Given the description of an element on the screen output the (x, y) to click on. 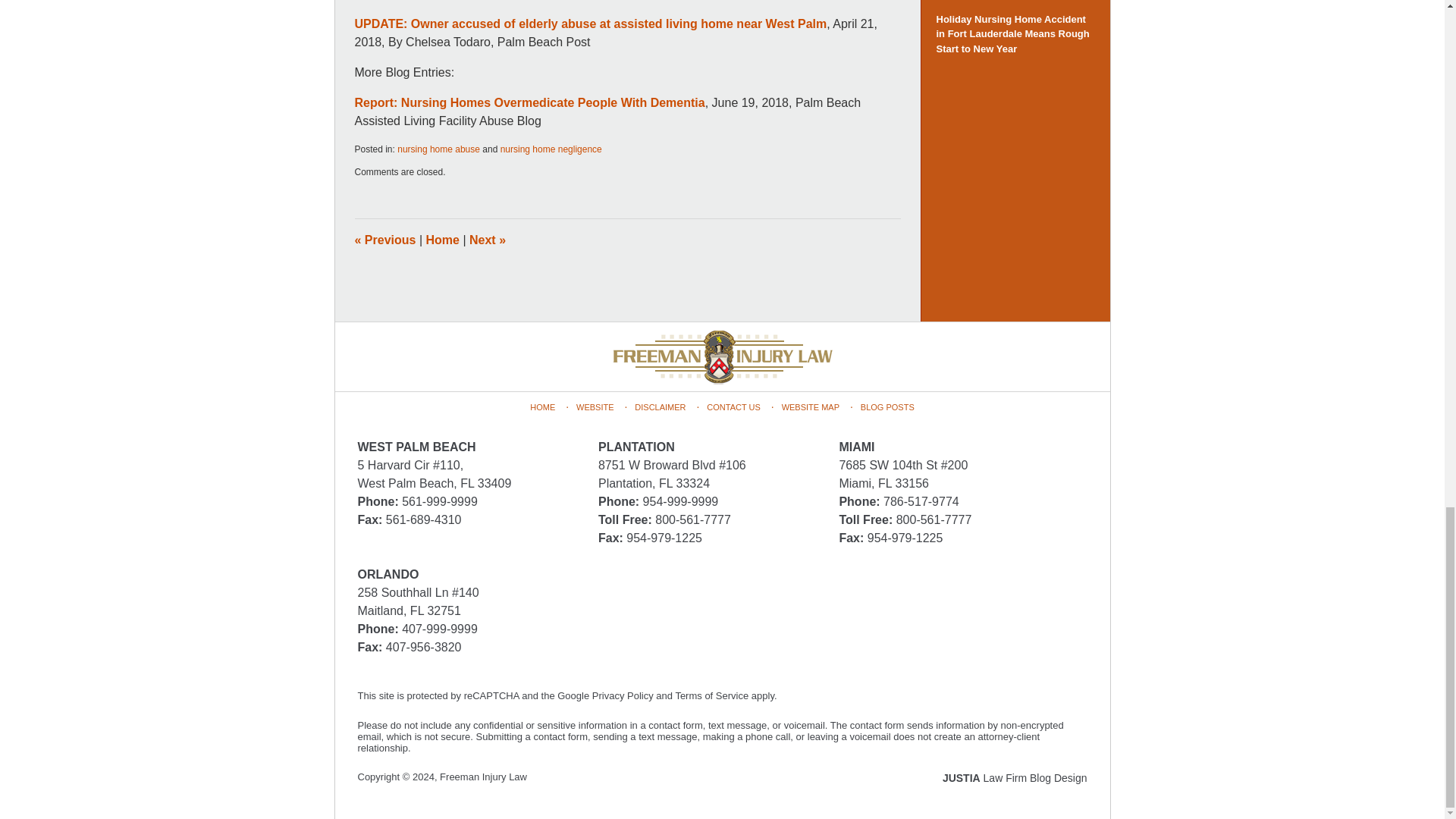
nursing home negligence (551, 149)
nursing home abuse (438, 149)
Home (443, 239)
View all posts in nursing home abuse (438, 149)
View all posts in nursing home negligence (551, 149)
Report: Nursing Homes Overmedicate People With Dementia (529, 102)
